Given the description of an element on the screen output the (x, y) to click on. 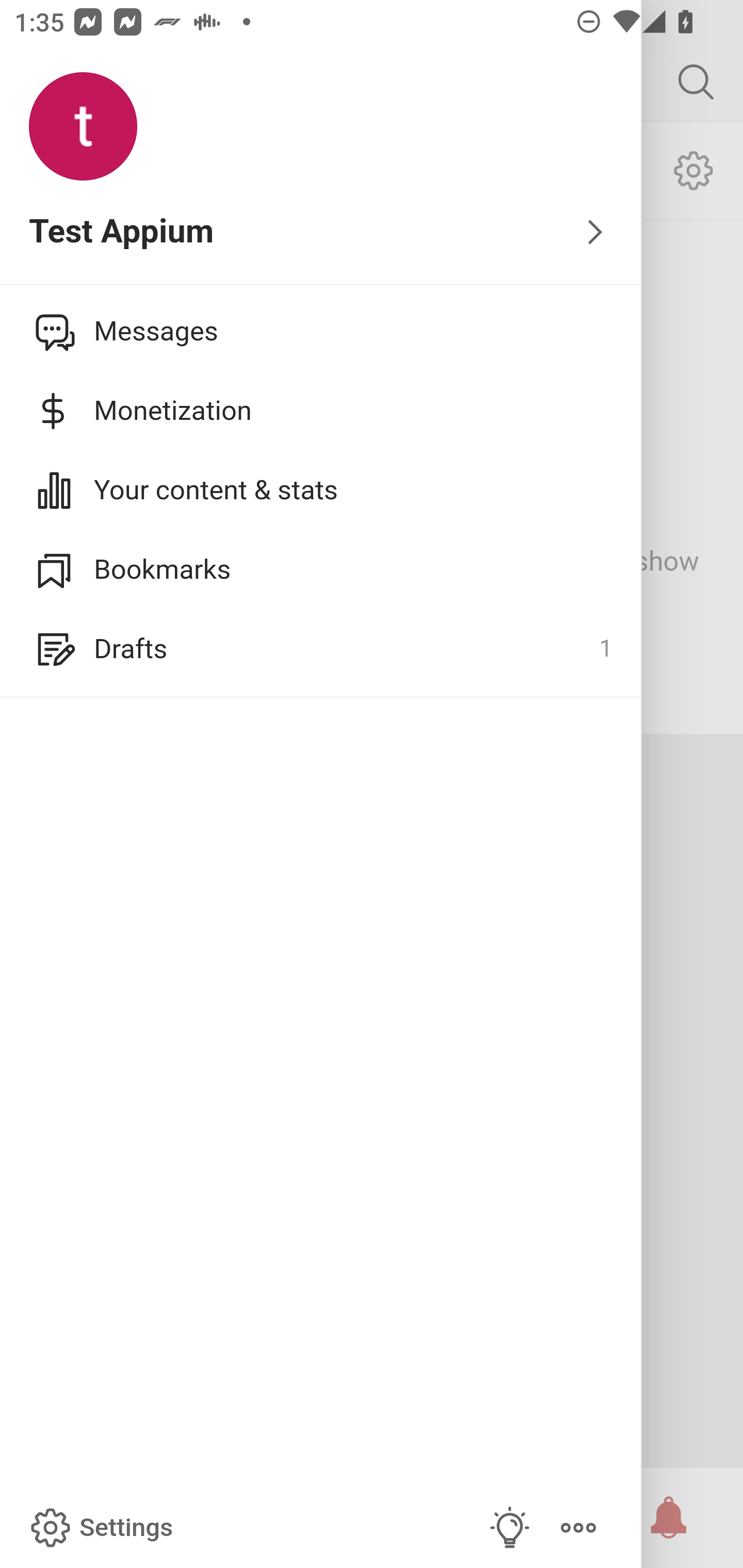
Profile photo for Test Appium (82, 126)
Test Appium (321, 232)
Messages (321, 330)
Monetization (321, 410)
Your content & stats (321, 489)
Bookmarks (321, 568)
Drafts 1 Drafts 1 (321, 648)
1 (605, 648)
Settings (99, 1527)
More (578, 1527)
